Given the description of an element on the screen output the (x, y) to click on. 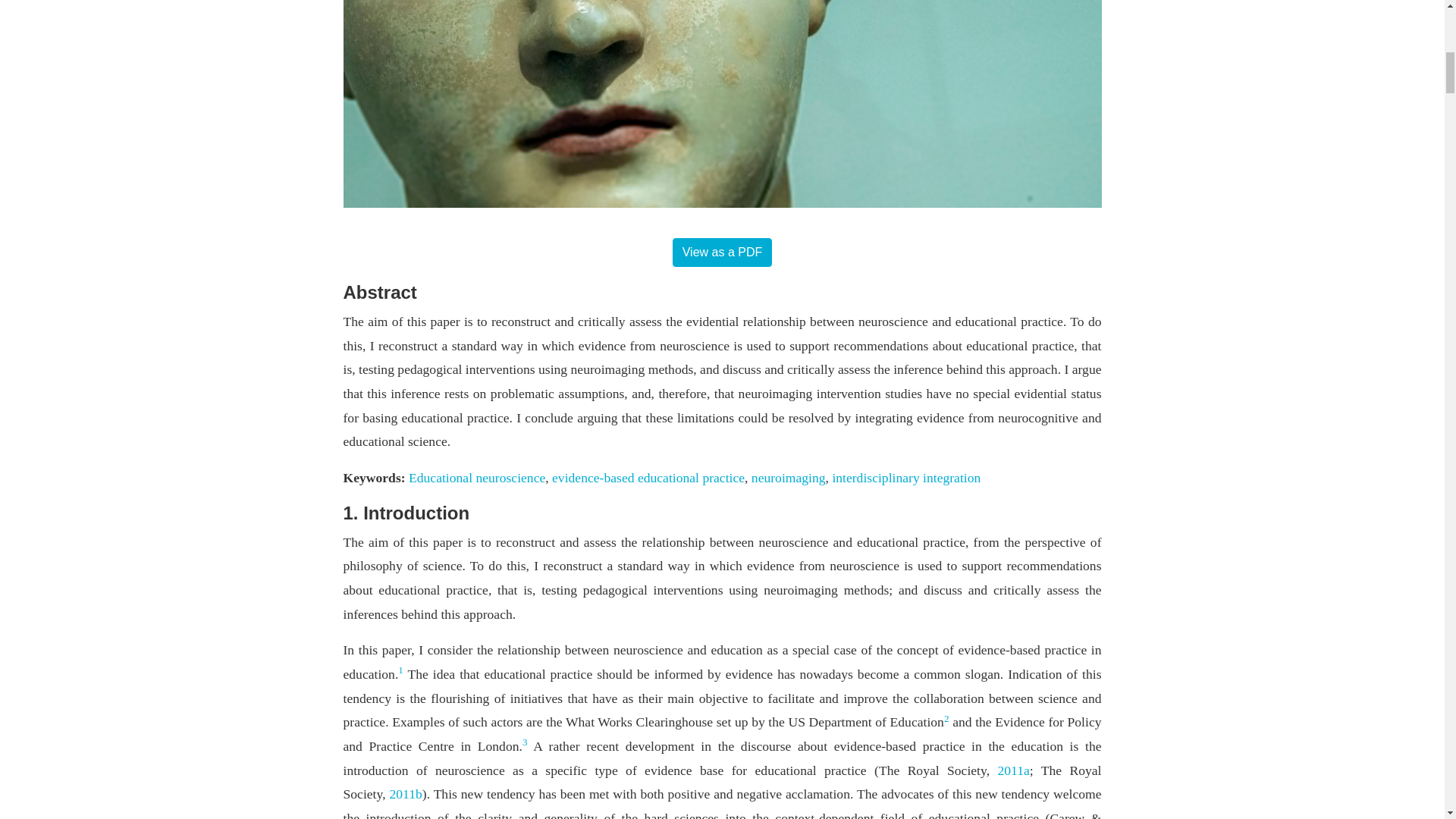
2011b (405, 793)
interdisciplinary integration (905, 477)
neuroimaging (788, 477)
evidence-based educational practice (647, 477)
2011a (1013, 770)
Educational neuroscience (476, 477)
View as a PDF (722, 252)
